Given the description of an element on the screen output the (x, y) to click on. 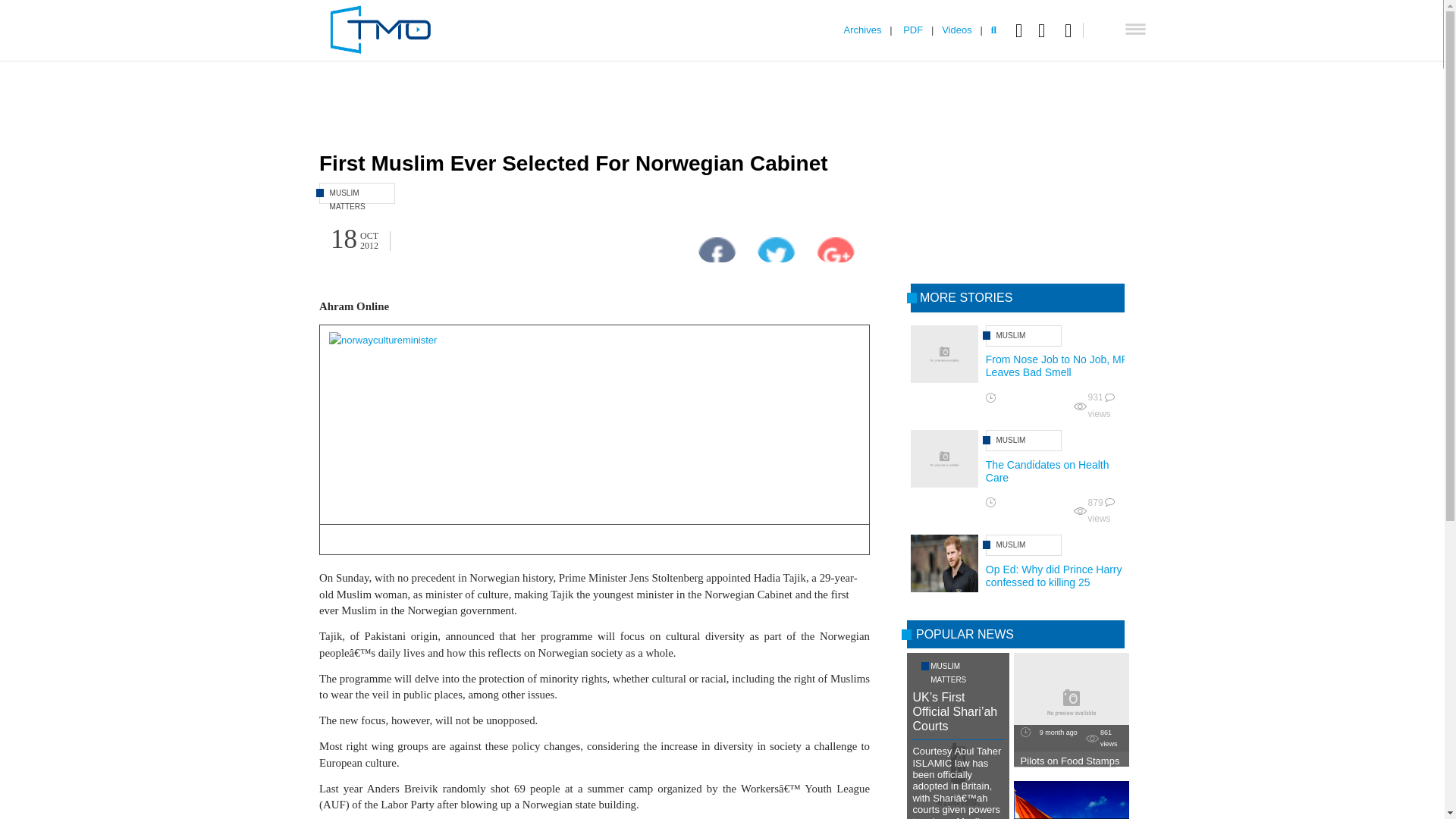
Instagram (1073, 29)
Twitter (1045, 29)
Facebook (1021, 29)
PDF (912, 30)
